Given the description of an element on the screen output the (x, y) to click on. 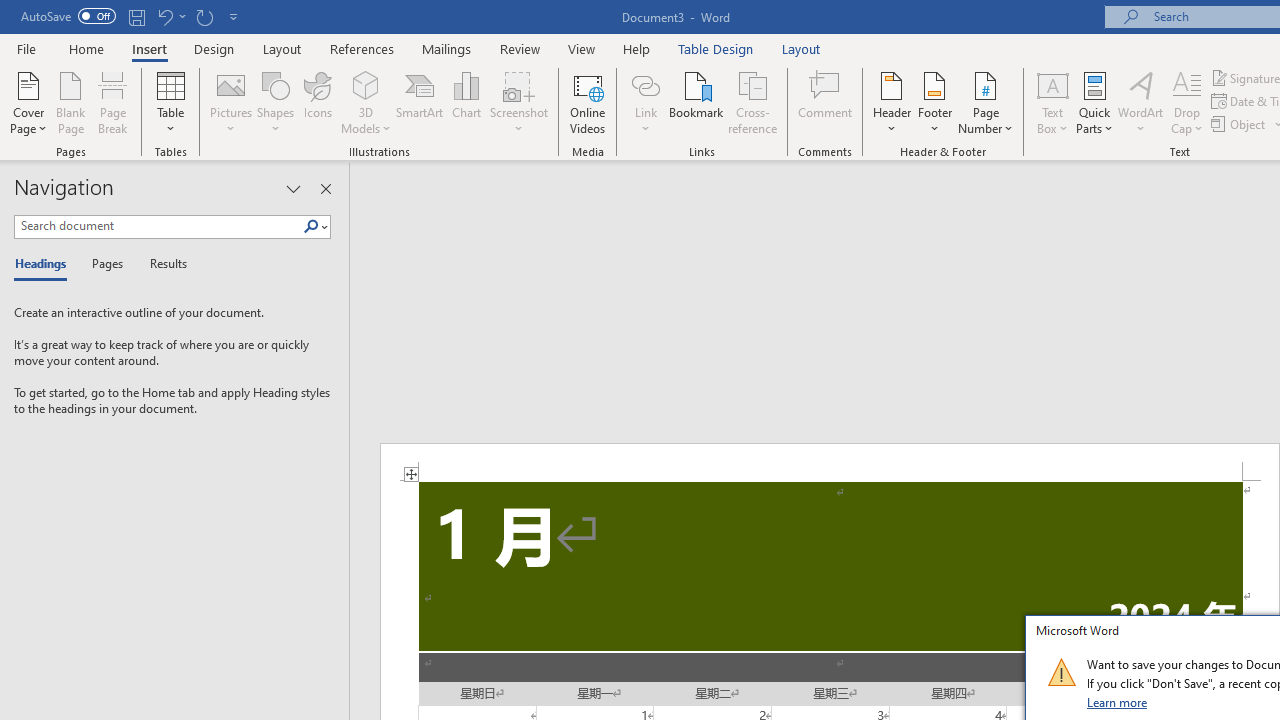
Comment (825, 102)
Icons (317, 102)
Header (891, 102)
Learn more (1118, 702)
Cover Page (28, 102)
